Given the description of an element on the screen output the (x, y) to click on. 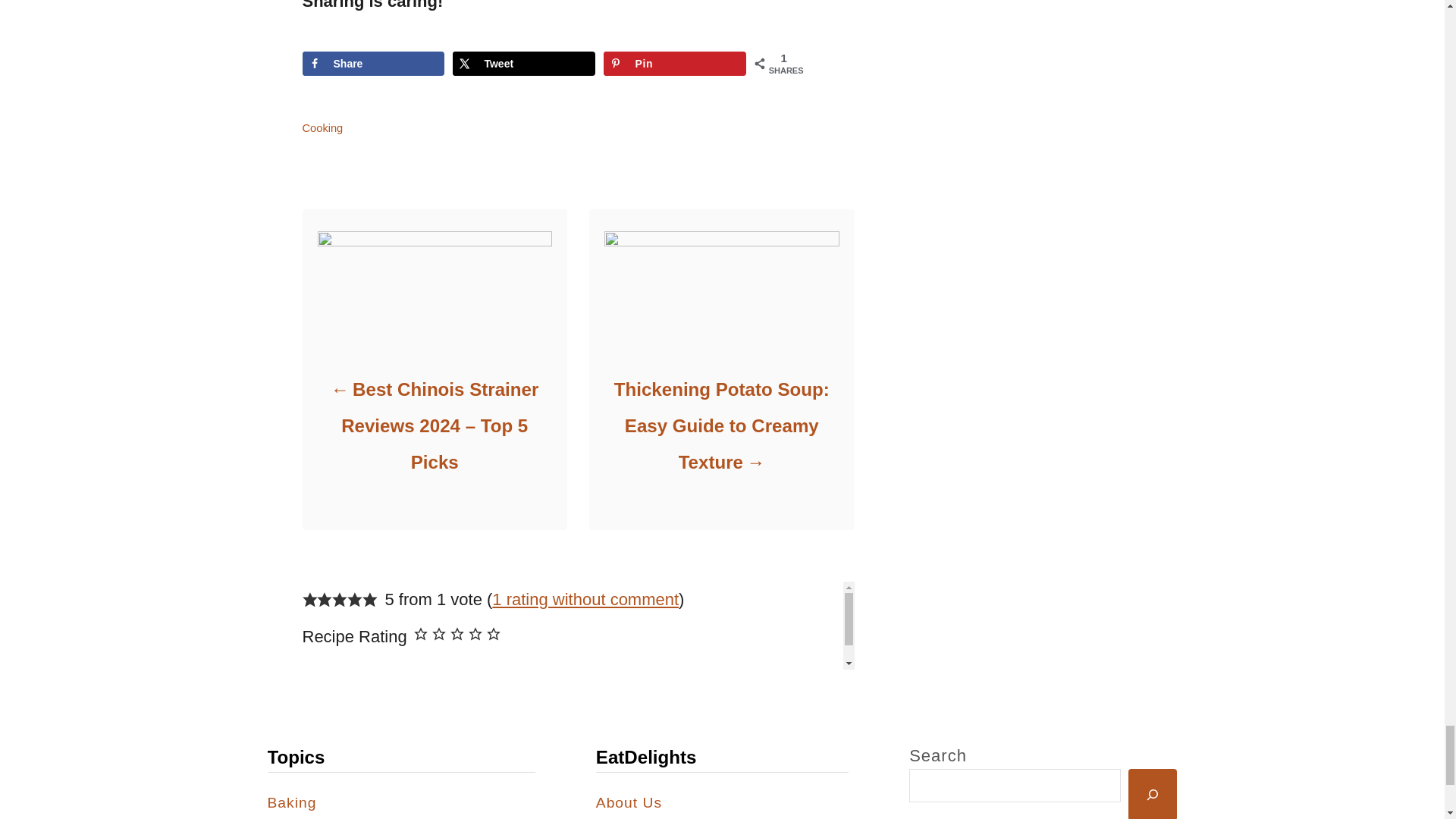
Share on X (523, 63)
Save to Pinterest (674, 63)
Share on Facebook (372, 63)
